Given the description of an element on the screen output the (x, y) to click on. 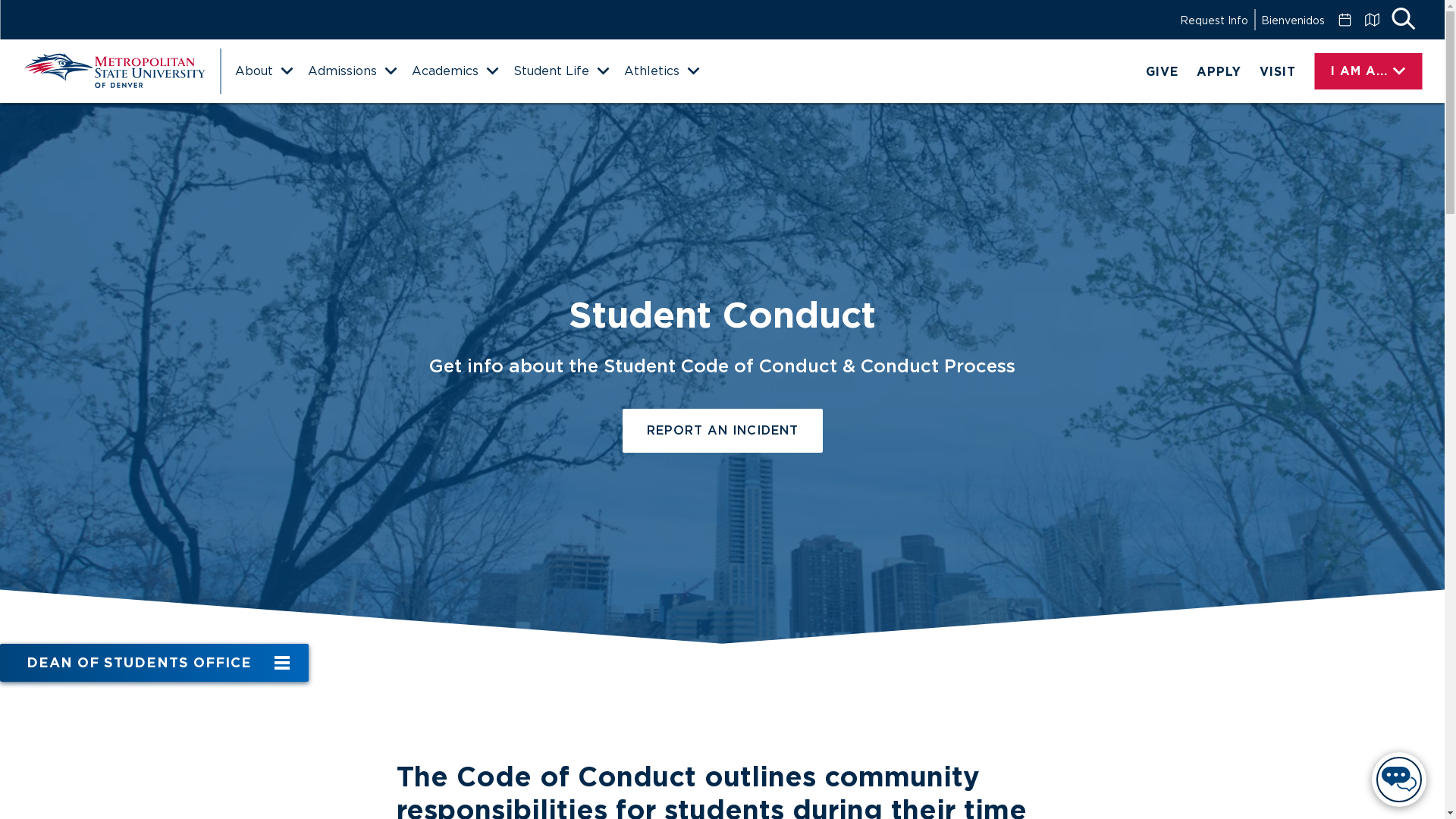
Bienvenidos (1292, 20)
About (263, 71)
MSU Denver (114, 70)
Map (1371, 19)
Search (1403, 19)
Calendar (1344, 19)
Request Info (1213, 20)
